Given the description of an element on the screen output the (x, y) to click on. 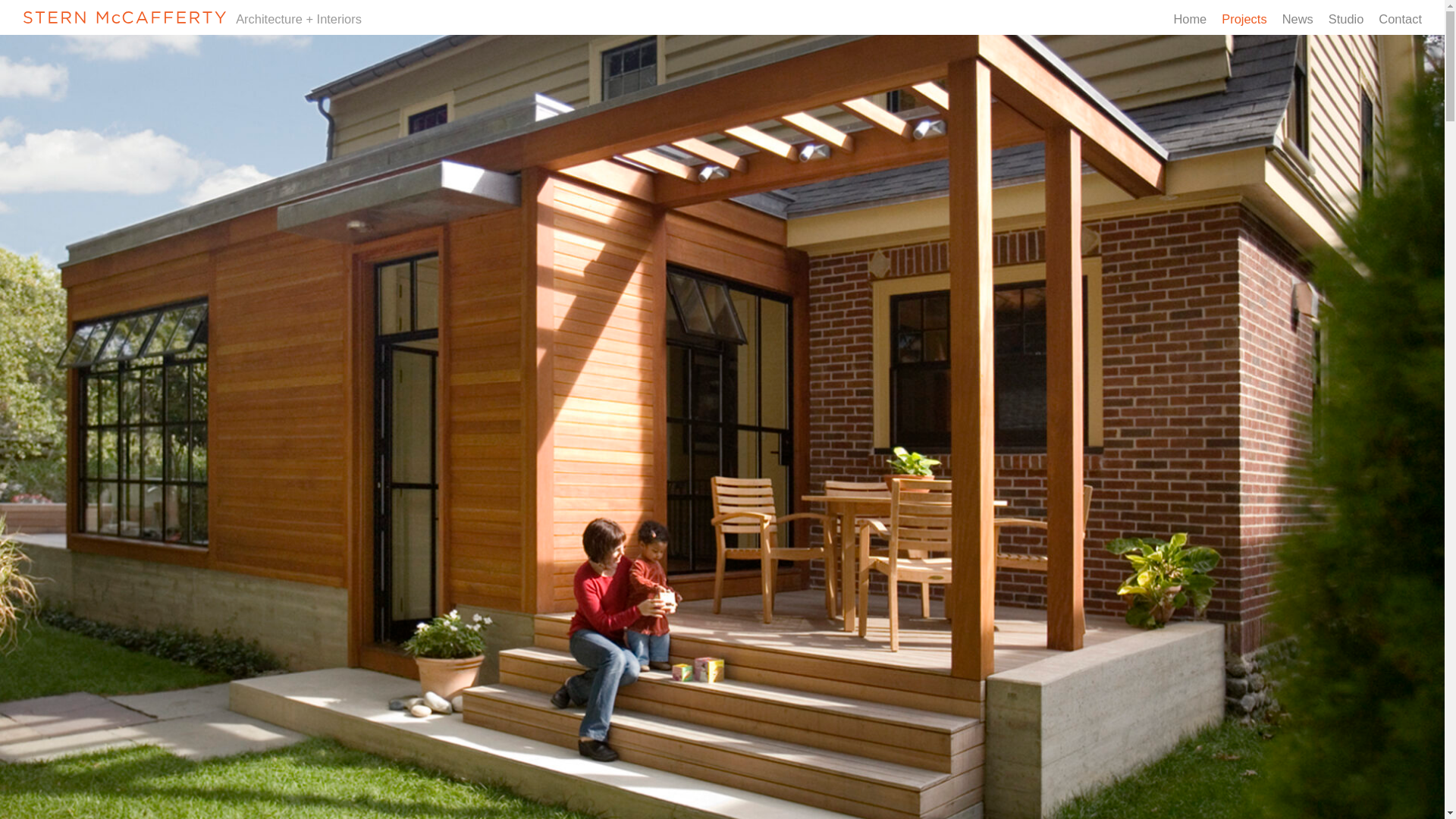
Studio (1345, 17)
Home (1190, 17)
Projects (1243, 17)
News (1297, 17)
STERN McCAFFERTY (124, 17)
STERN McCAFFERTY (192, 16)
Contact (1400, 17)
